Given the description of an element on the screen output the (x, y) to click on. 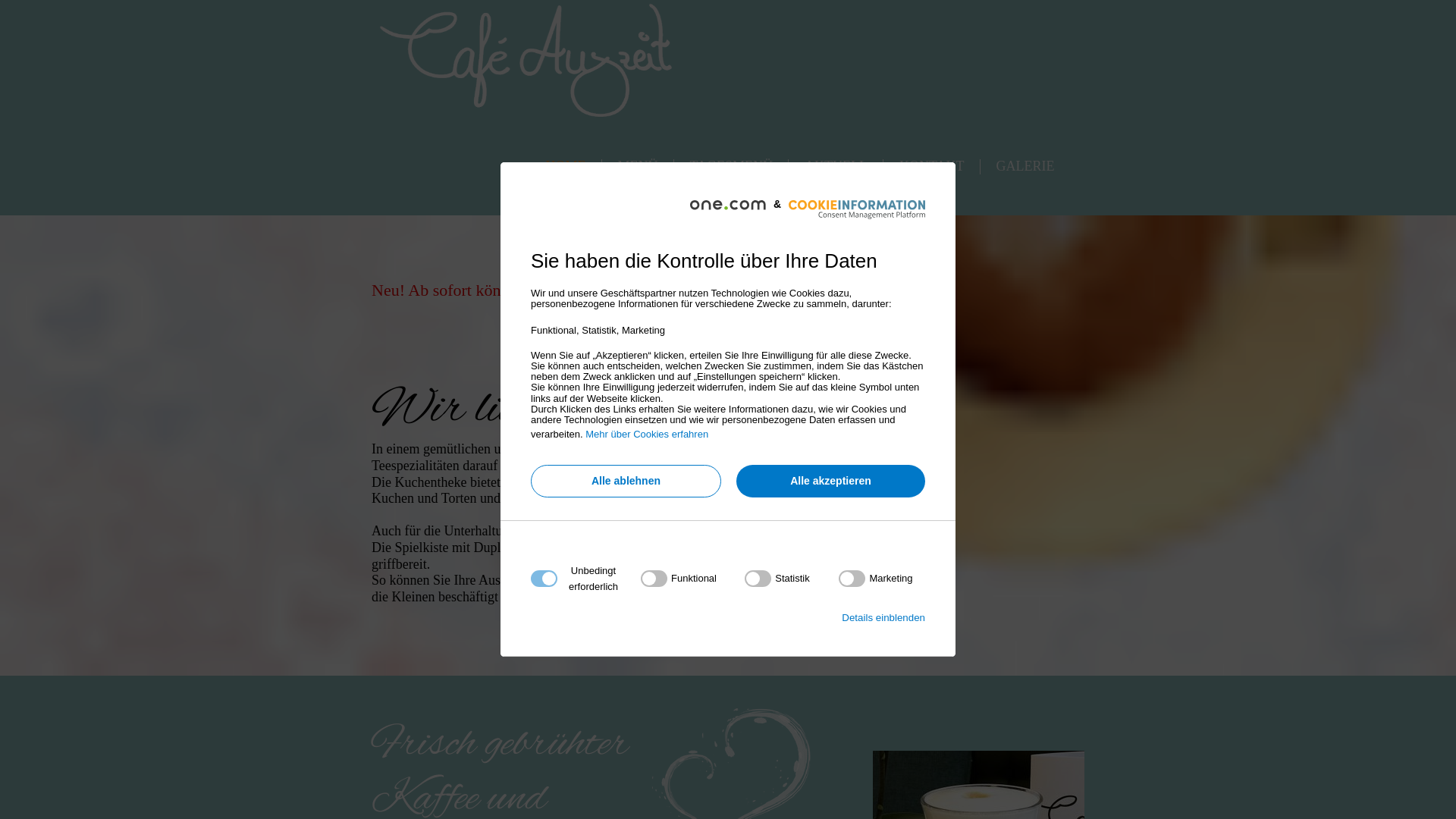
KONTAKT Element type: text (932, 166)
on Element type: text (776, 578)
Details einblenden Element type: text (883, 617)
HOME Element type: text (565, 166)
Alle akzeptieren Element type: text (830, 480)
Alle ablehnen Element type: text (625, 480)
on Element type: text (875, 578)
AKTUELL Element type: text (836, 166)
Unbedingt erforderlich Element type: text (723, 671)
Funktional Element type: text (723, 777)
GALERIE Element type: text (1025, 166)
on Element type: text (678, 578)
